Given the description of an element on the screen output the (x, y) to click on. 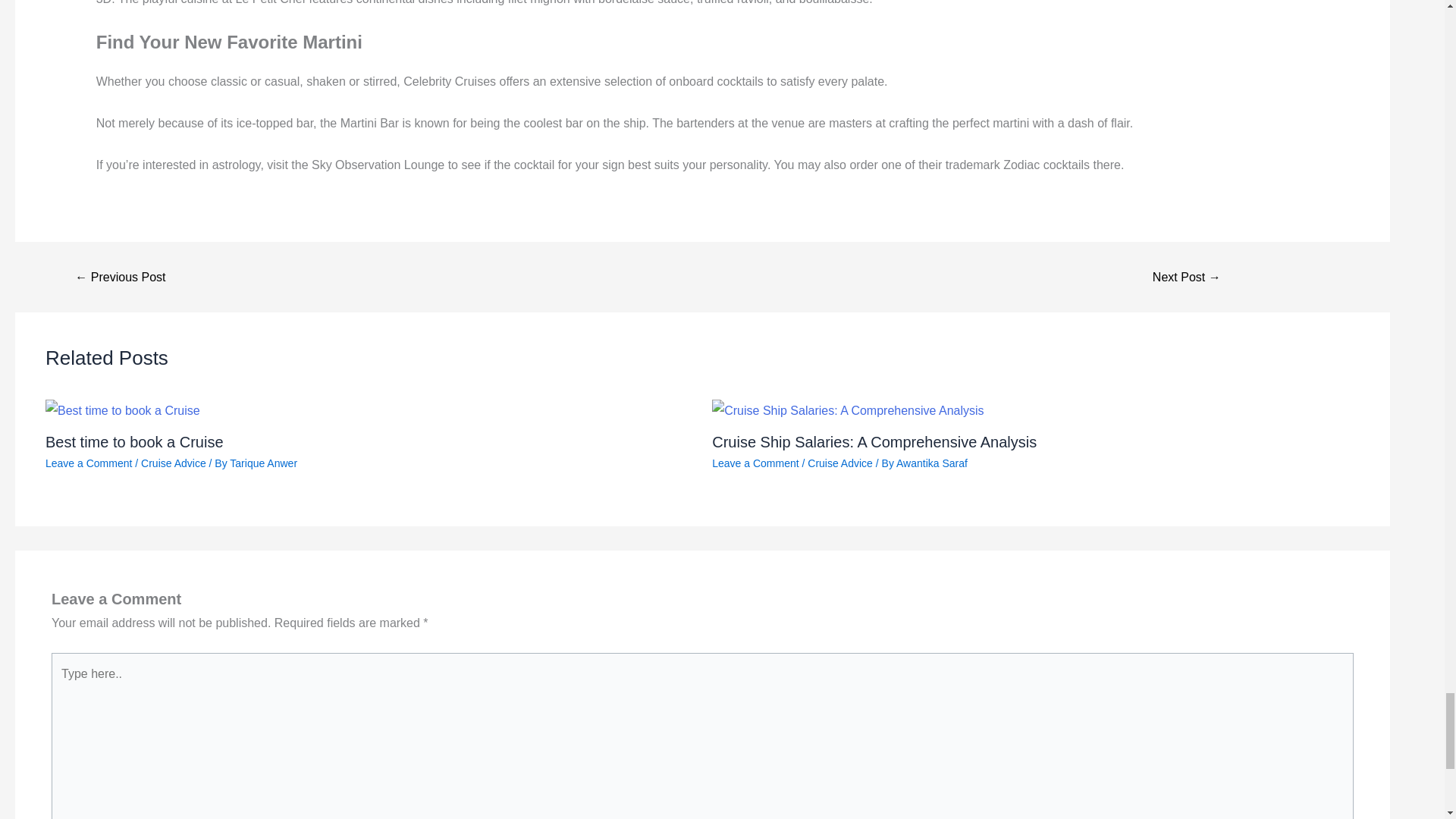
Cruise Advice (173, 463)
View all posts by Awantika Saraf (932, 463)
Leave a Comment (88, 463)
Cruise Advice (840, 463)
Best time to book a Cruise (134, 442)
Awantika Saraf (932, 463)
Tarique Anwer (263, 463)
Leave a Comment (754, 463)
Discover the Fascinating History of Great Lakes Shipwrecks (1186, 277)
